Given the description of an element on the screen output the (x, y) to click on. 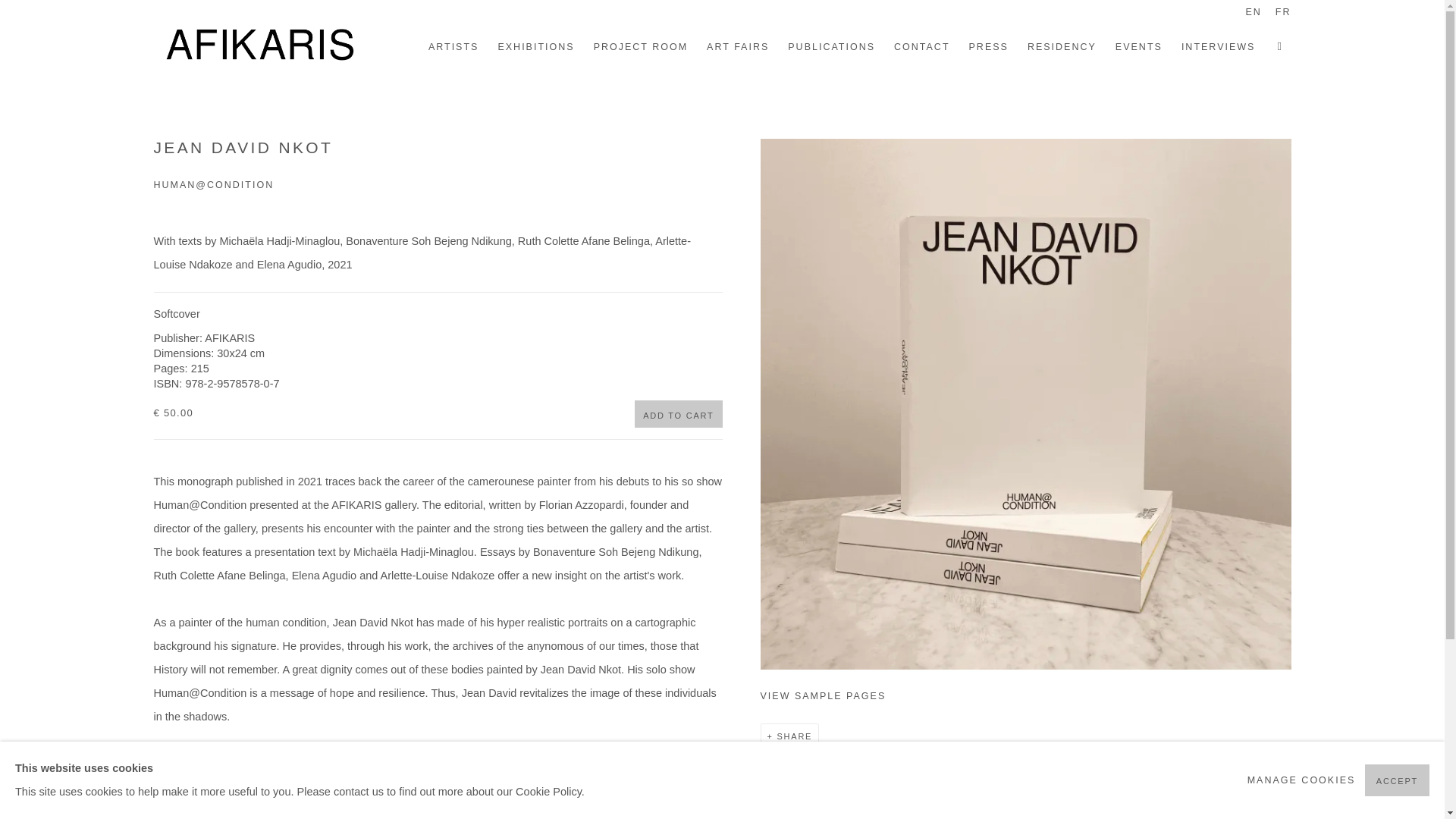
EVENTS (1138, 45)
VIEW SAMPLE PAGES (1025, 696)
SHARE (789, 735)
CONTACT (921, 45)
RESIDENCY (1061, 45)
ARTISTS (453, 45)
ADD TO CART (678, 413)
EN (1252, 13)
Go (8, 5)
